Given the description of an element on the screen output the (x, y) to click on. 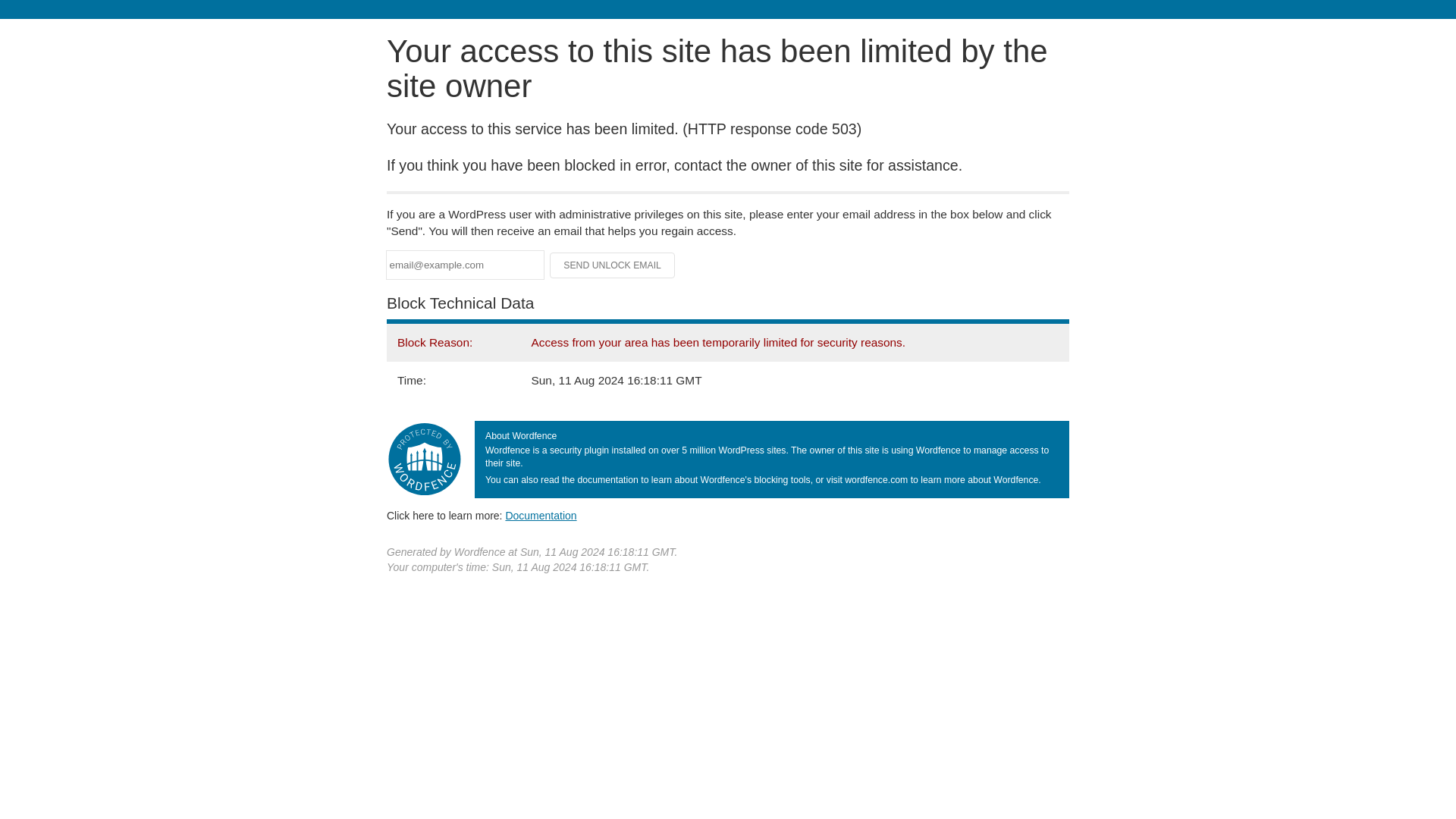
Send Unlock Email (612, 265)
Documentation (540, 515)
Send Unlock Email (612, 265)
